Given the description of an element on the screen output the (x, y) to click on. 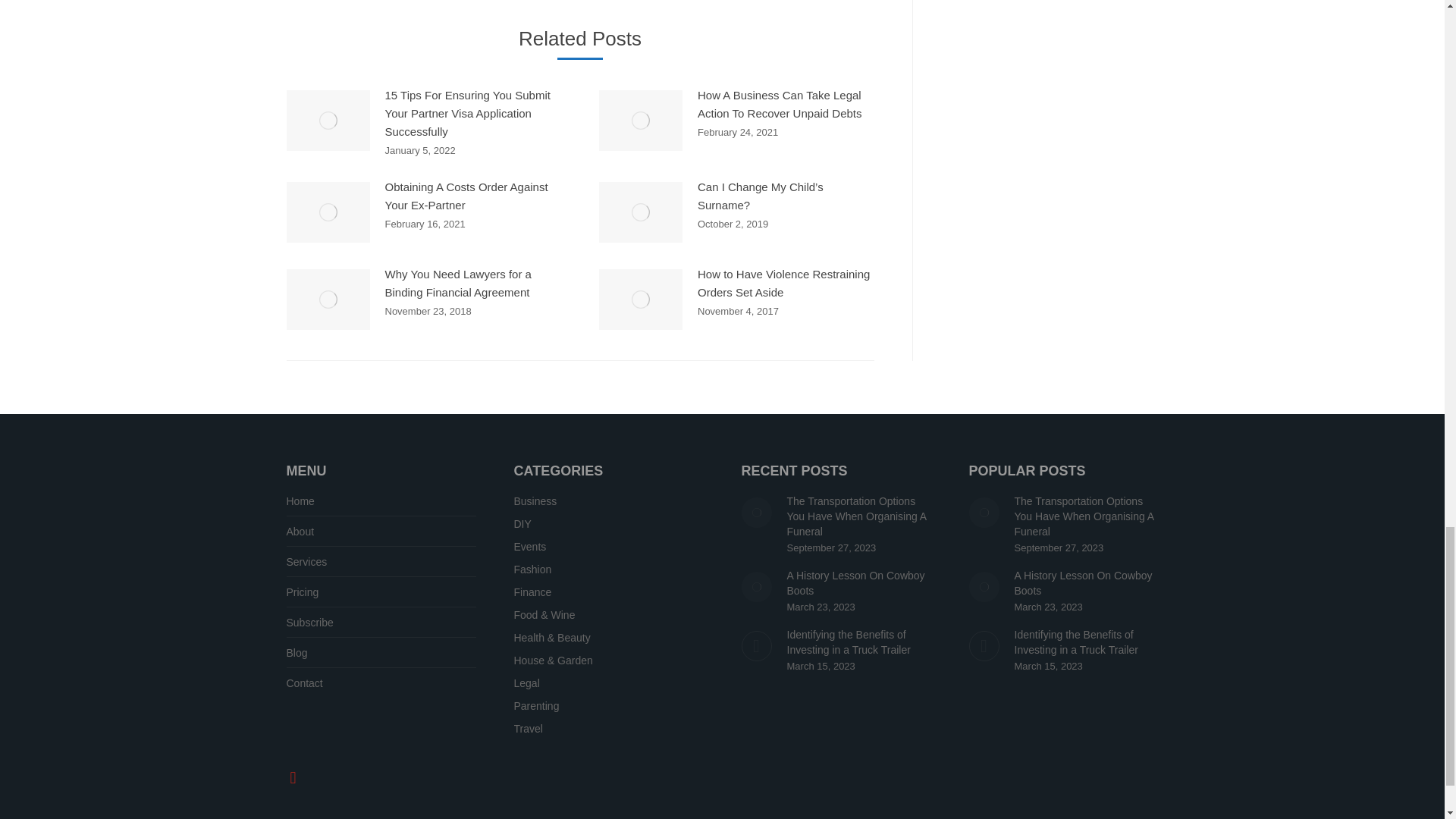
Facebook (293, 776)
